Given the description of an element on the screen output the (x, y) to click on. 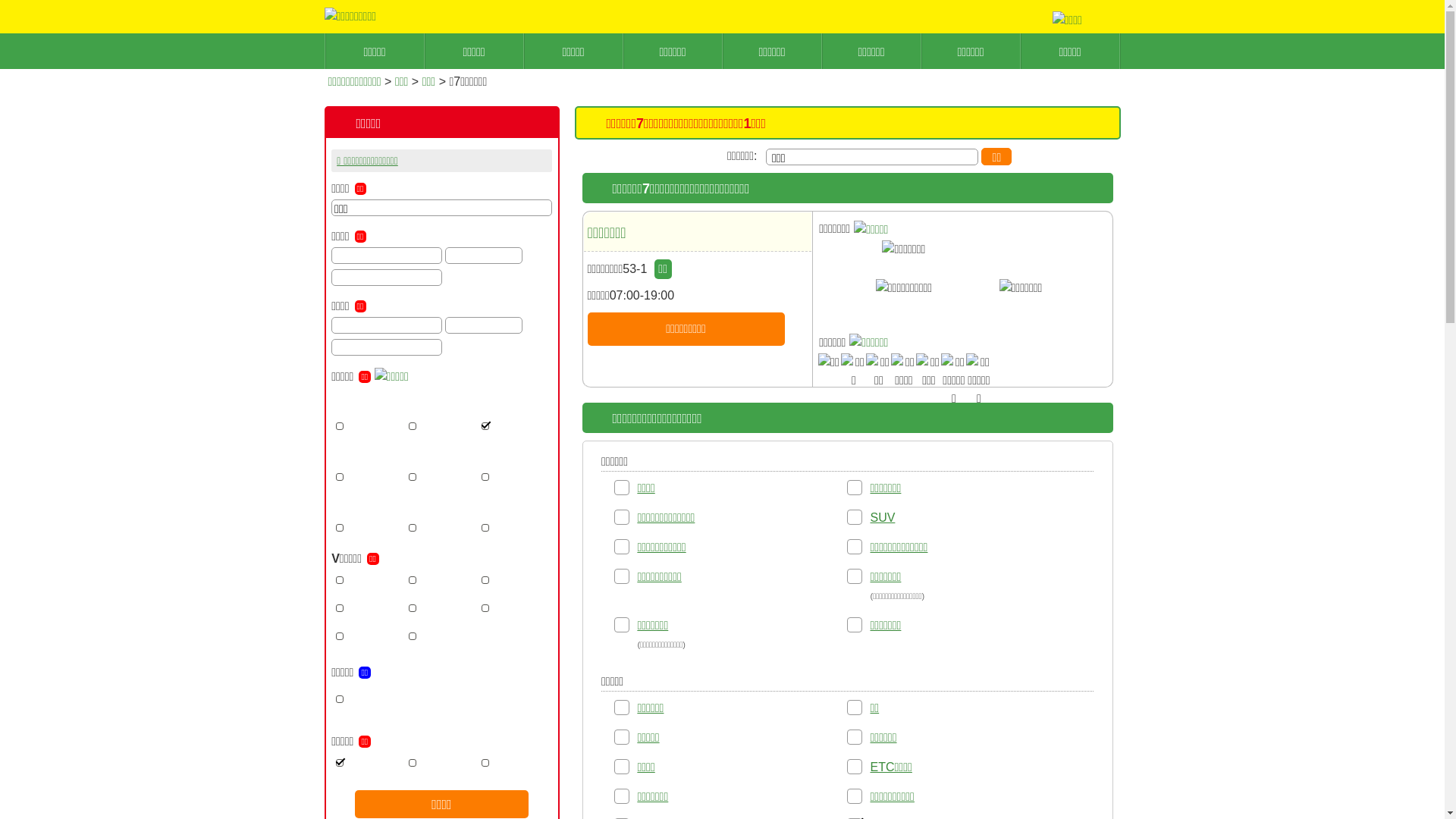
SUV Element type: text (881, 517)
